Given the description of an element on the screen output the (x, y) to click on. 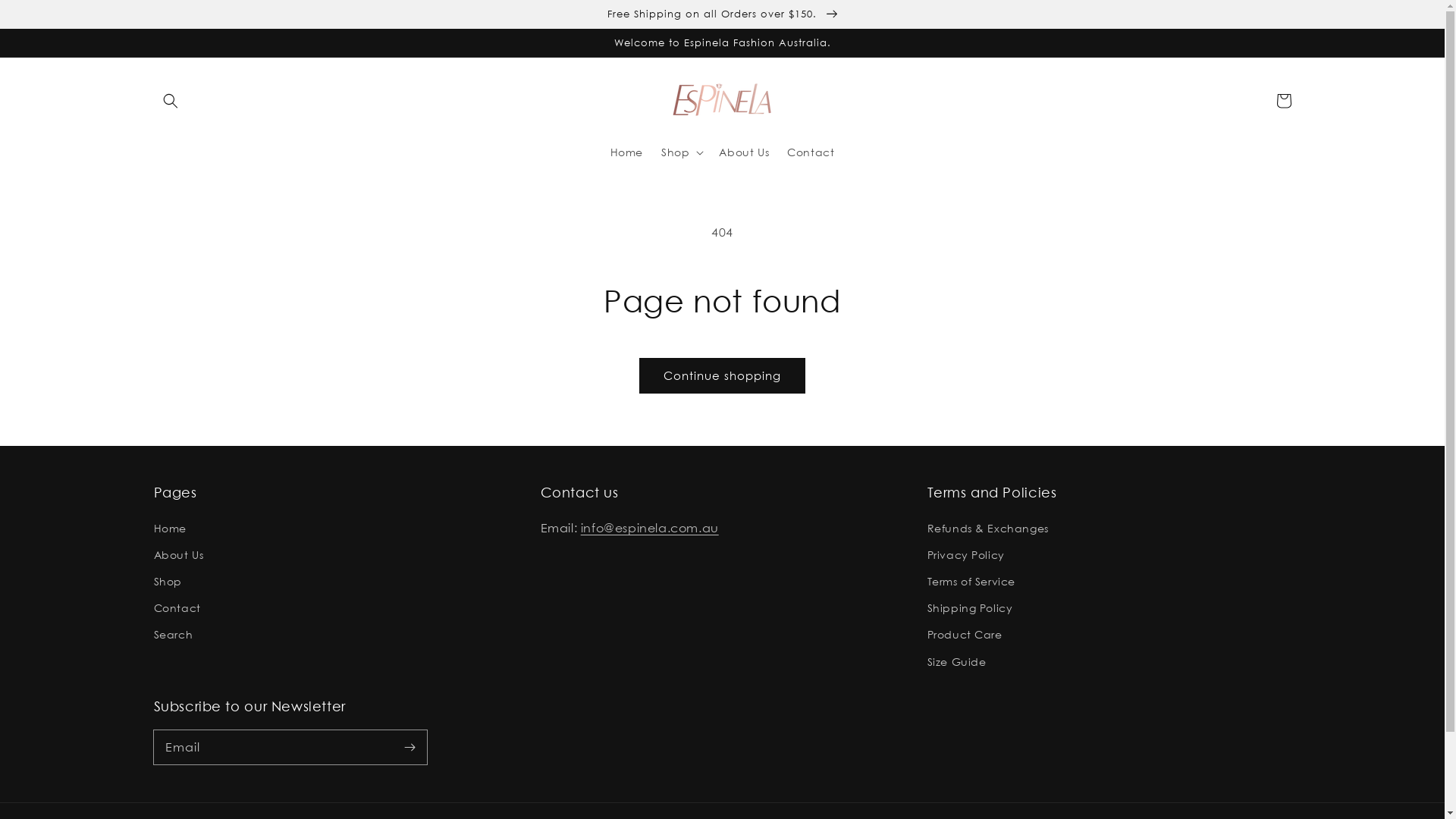
Continue shopping Element type: text (722, 375)
Home Element type: text (169, 529)
About Us Element type: text (178, 554)
Free Shipping on all Orders over $150. Element type: text (722, 14)
Size Guide Element type: text (955, 661)
Terms of Service Element type: text (970, 580)
Refunds & Exchanges Element type: text (987, 529)
Search Element type: text (172, 634)
About Us Element type: text (743, 152)
Home Element type: text (626, 152)
Shipping Policy Element type: text (969, 607)
Privacy Policy Element type: text (965, 554)
Shop Element type: text (167, 580)
Contact Element type: text (810, 152)
Contact Element type: text (176, 607)
Cart Element type: text (1282, 100)
info@espinela.com.au Element type: text (649, 527)
Product Care Element type: text (963, 634)
